Given the description of an element on the screen output the (x, y) to click on. 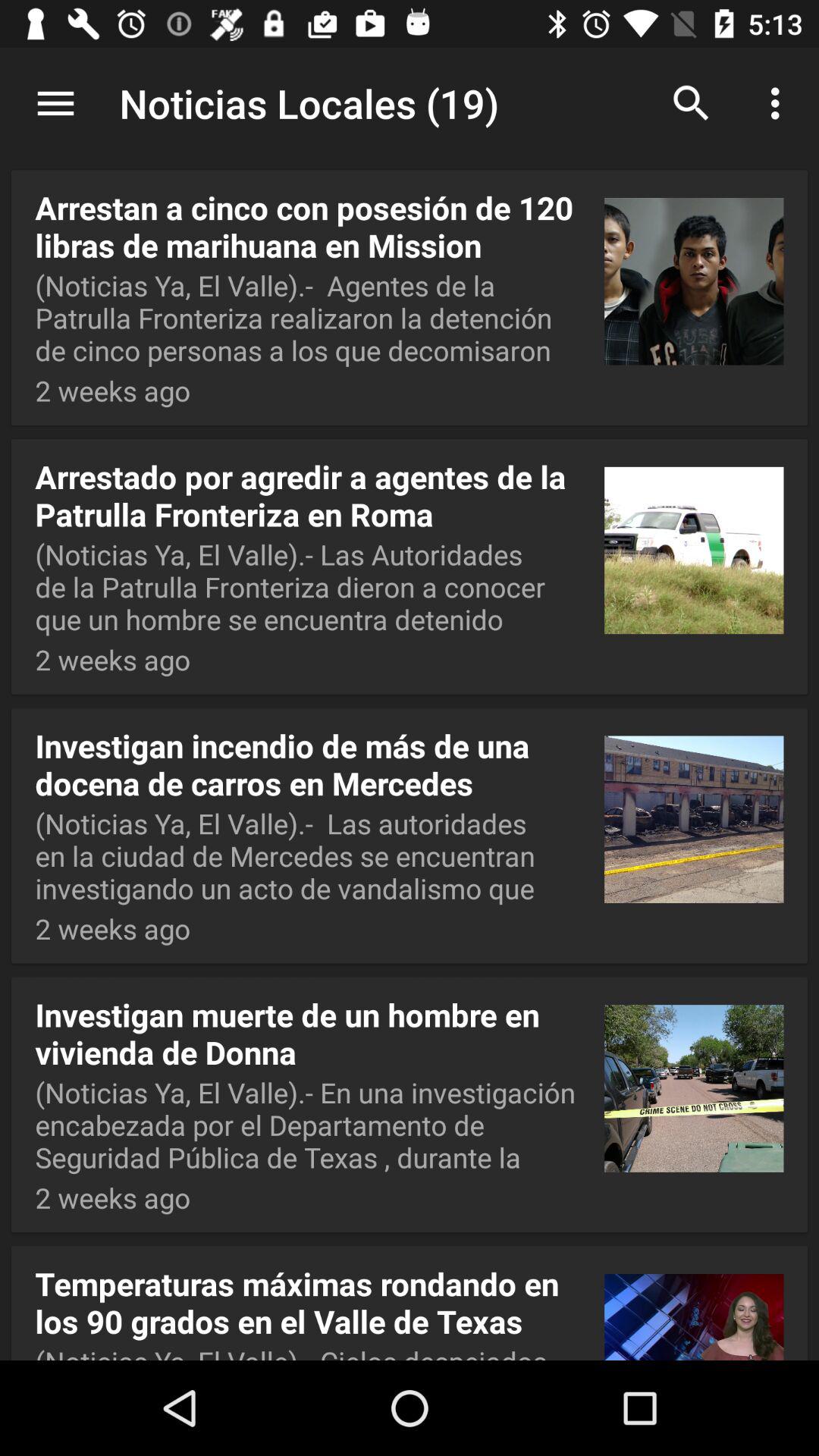
launch item to the right of the noticias locales (19) icon (691, 103)
